Given the description of an element on the screen output the (x, y) to click on. 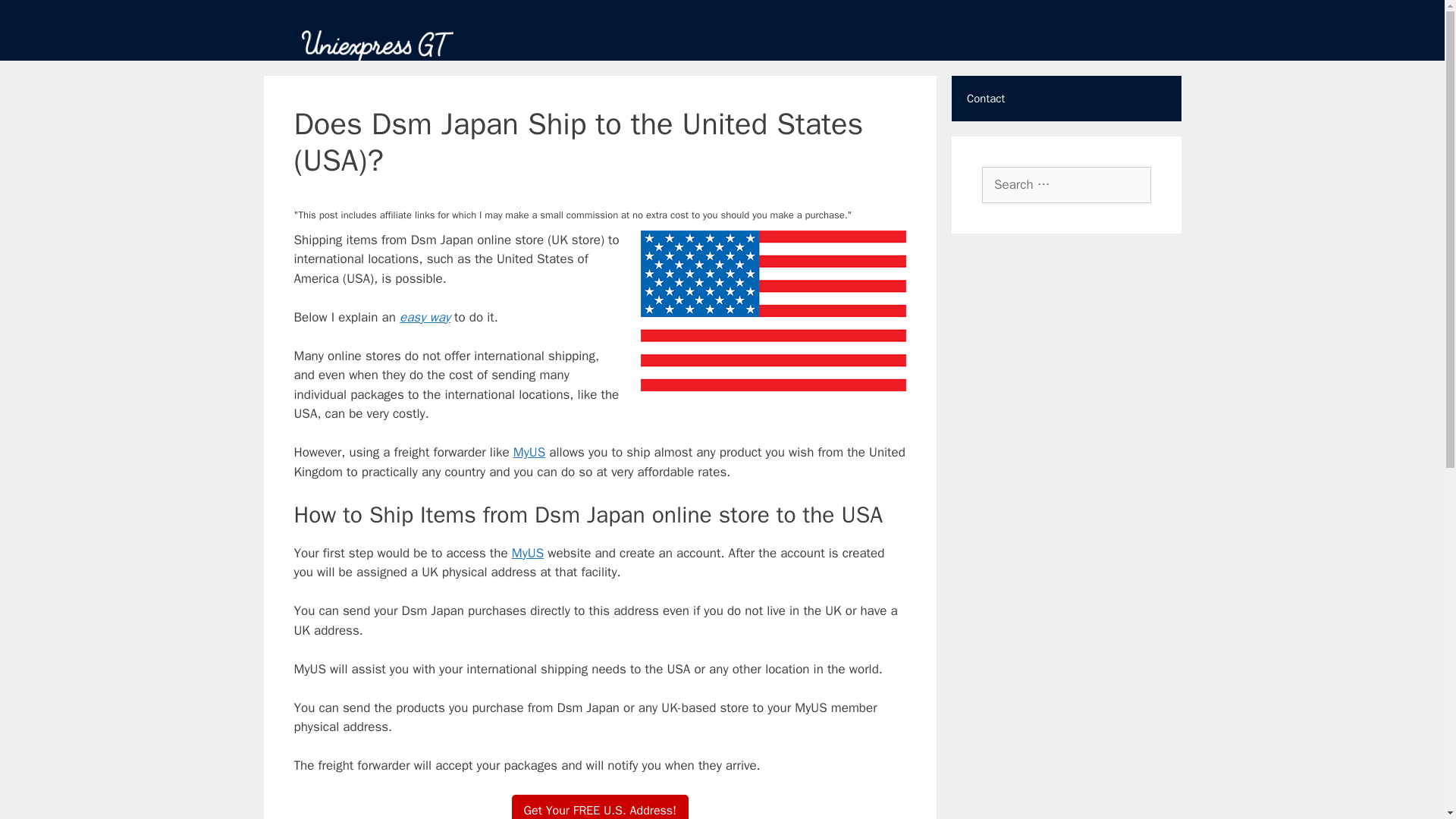
uniexpress GT (376, 45)
easy way (423, 317)
MyUS (527, 552)
Contact (1066, 98)
Search for: (1066, 185)
Get Your FREE U.S. Address! (600, 806)
Search (33, 15)
MyUS (528, 452)
uniexpress GT (376, 44)
